Given the description of an element on the screen output the (x, y) to click on. 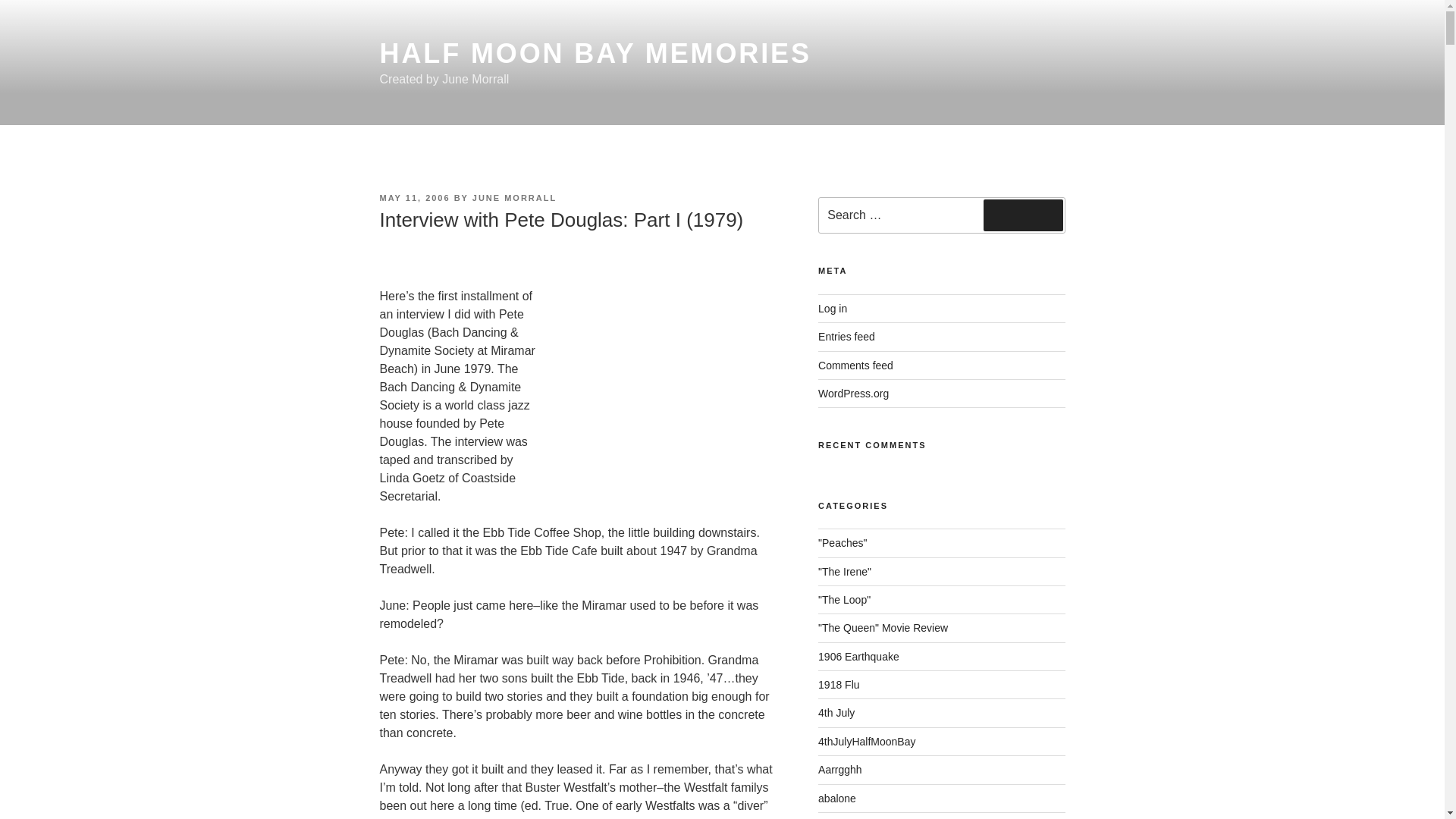
4thJulyHalfMoonBay (866, 741)
1918 Flu (838, 684)
"The Queen" Movie Review (882, 627)
Comments feed (855, 365)
MAY 11, 2006 (413, 197)
HALF MOON BAY MEMORIES (594, 52)
Entries feed (846, 336)
"Peaches" (842, 542)
Search (1023, 214)
"The Loop" (844, 599)
4th July (836, 712)
Log in (832, 308)
"The Irene" (844, 571)
WordPress.org (853, 393)
1906 Earthquake (858, 656)
